Given the description of an element on the screen output the (x, y) to click on. 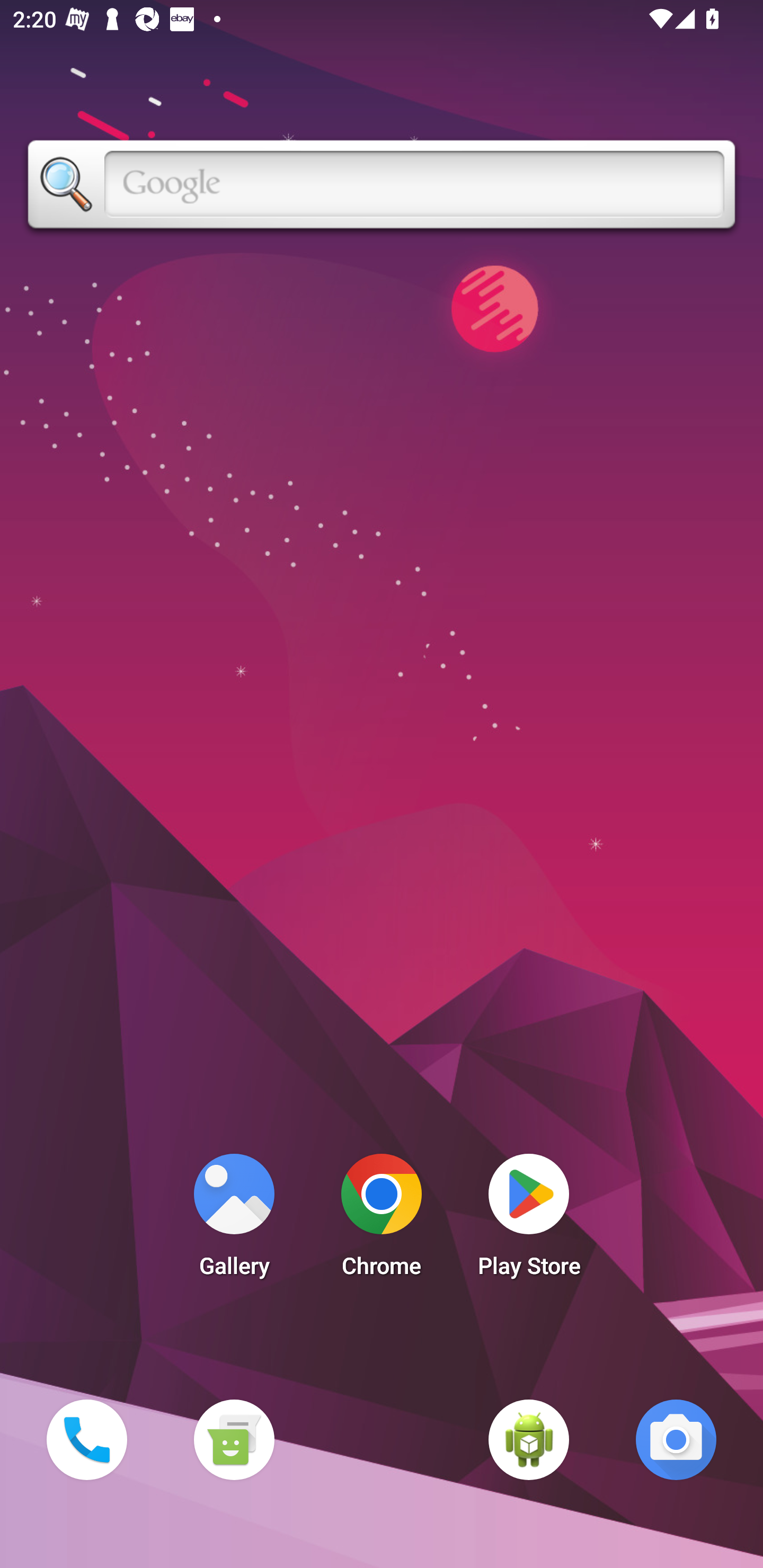
Gallery (233, 1220)
Chrome (381, 1220)
Play Store (528, 1220)
Phone (86, 1439)
Messaging (233, 1439)
WebView Browser Tester (528, 1439)
Camera (676, 1439)
